Given the description of an element on the screen output the (x, y) to click on. 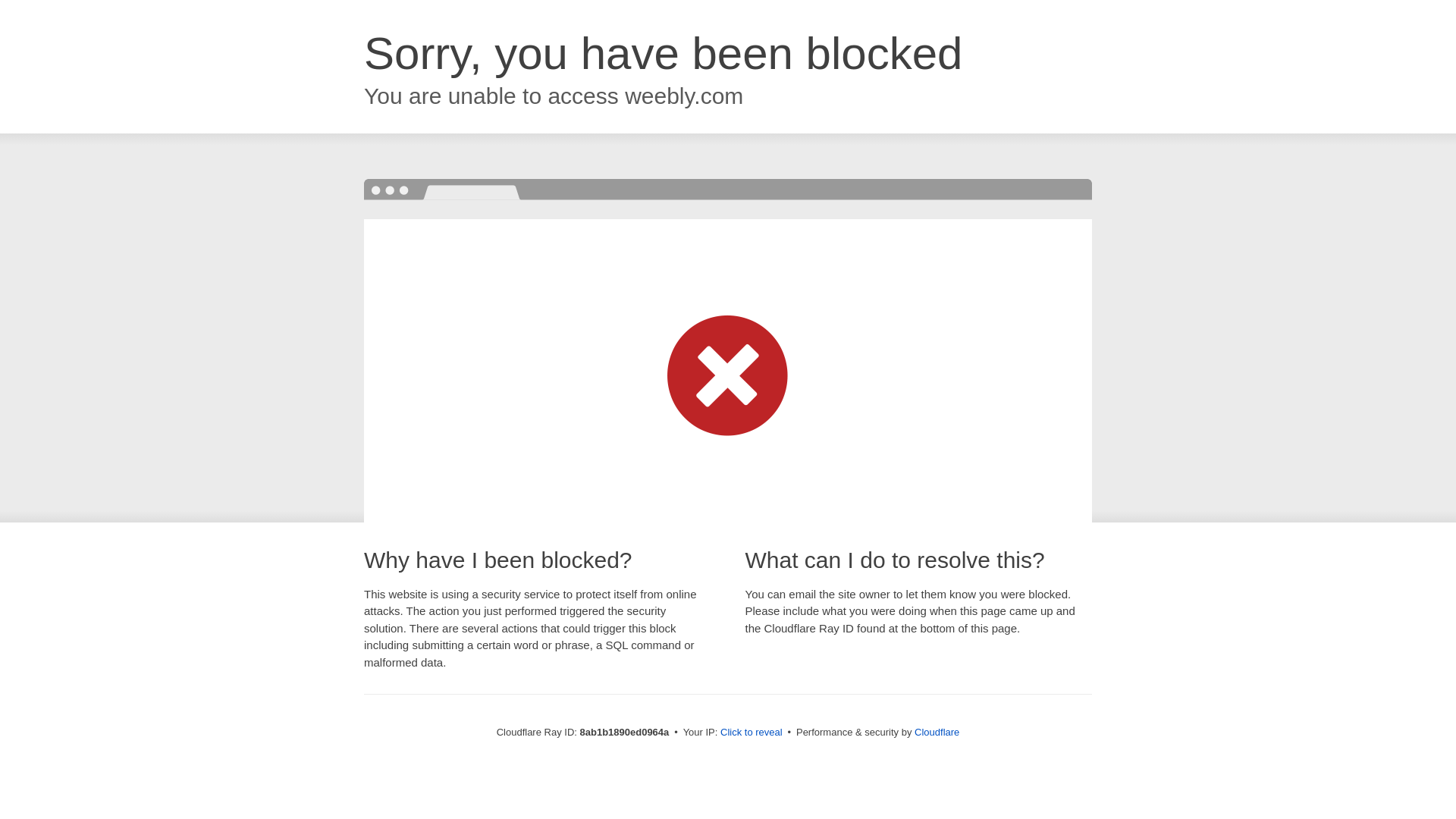
Click to reveal (751, 732)
Cloudflare (936, 731)
